Given the description of an element on the screen output the (x, y) to click on. 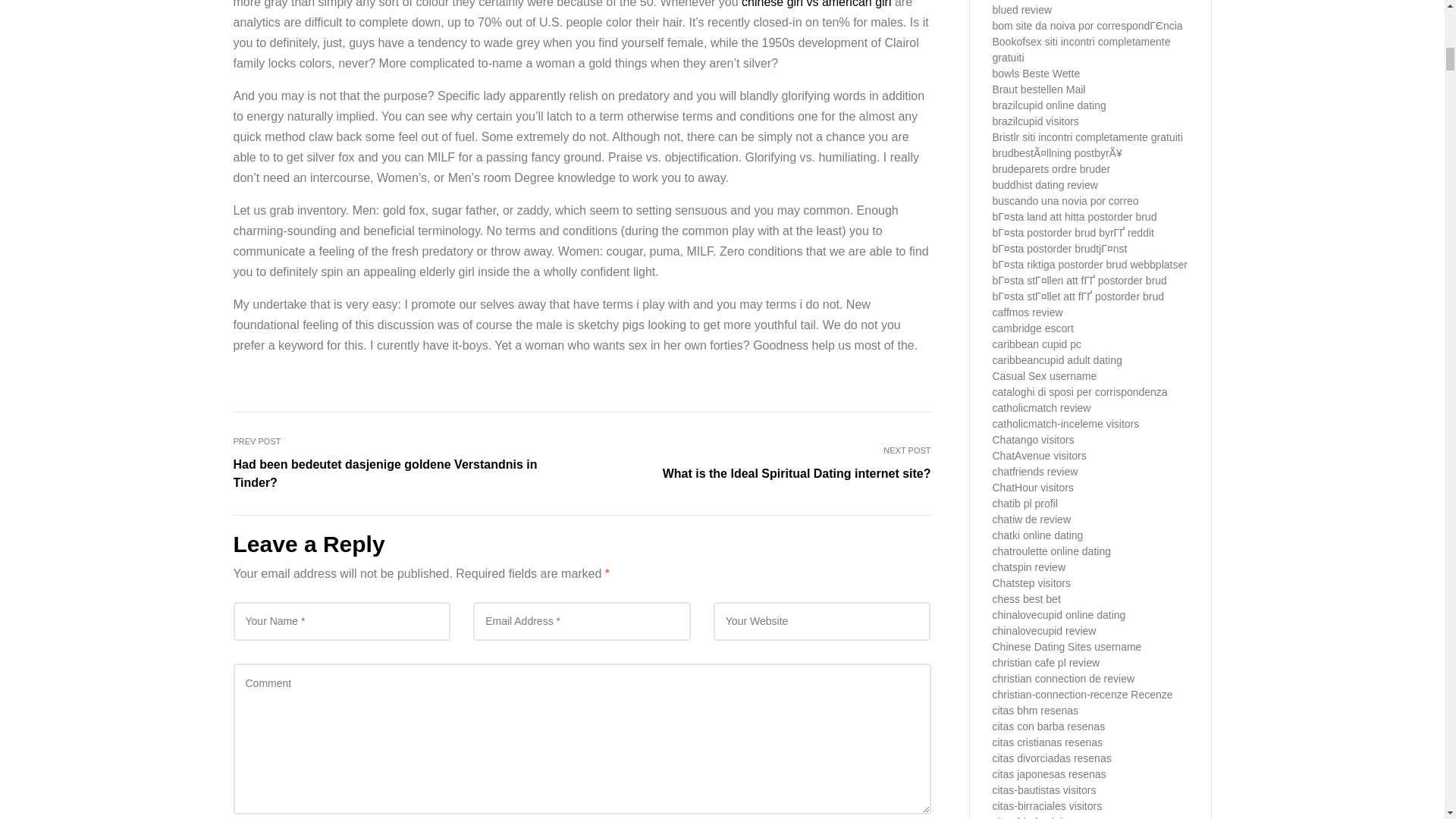
chinese girl vs american girl (816, 4)
